Given the description of an element on the screen output the (x, y) to click on. 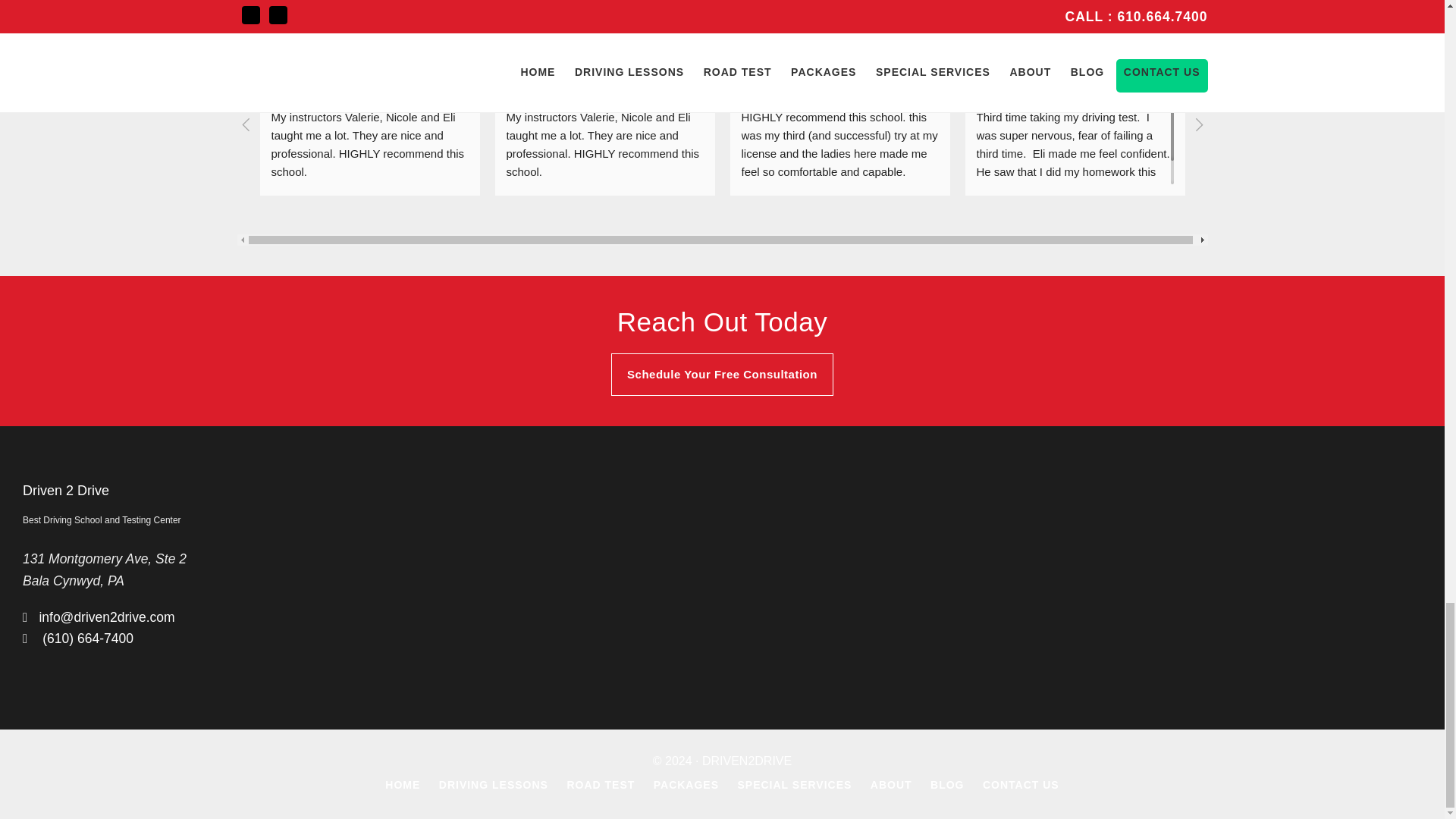
WhatIsTime (1054, 46)
Ritzy Riches (1230, 55)
Yan Taylor (289, 55)
DRIVEN2DRIVE (746, 760)
Ivy Salfiti (812, 46)
Ivy Salfiti (759, 55)
ROAD TEST (600, 784)
WhatIsTime (995, 55)
Ritzy Riches (1290, 46)
DRIVING LESSONS (493, 784)
